Given the description of an element on the screen output the (x, y) to click on. 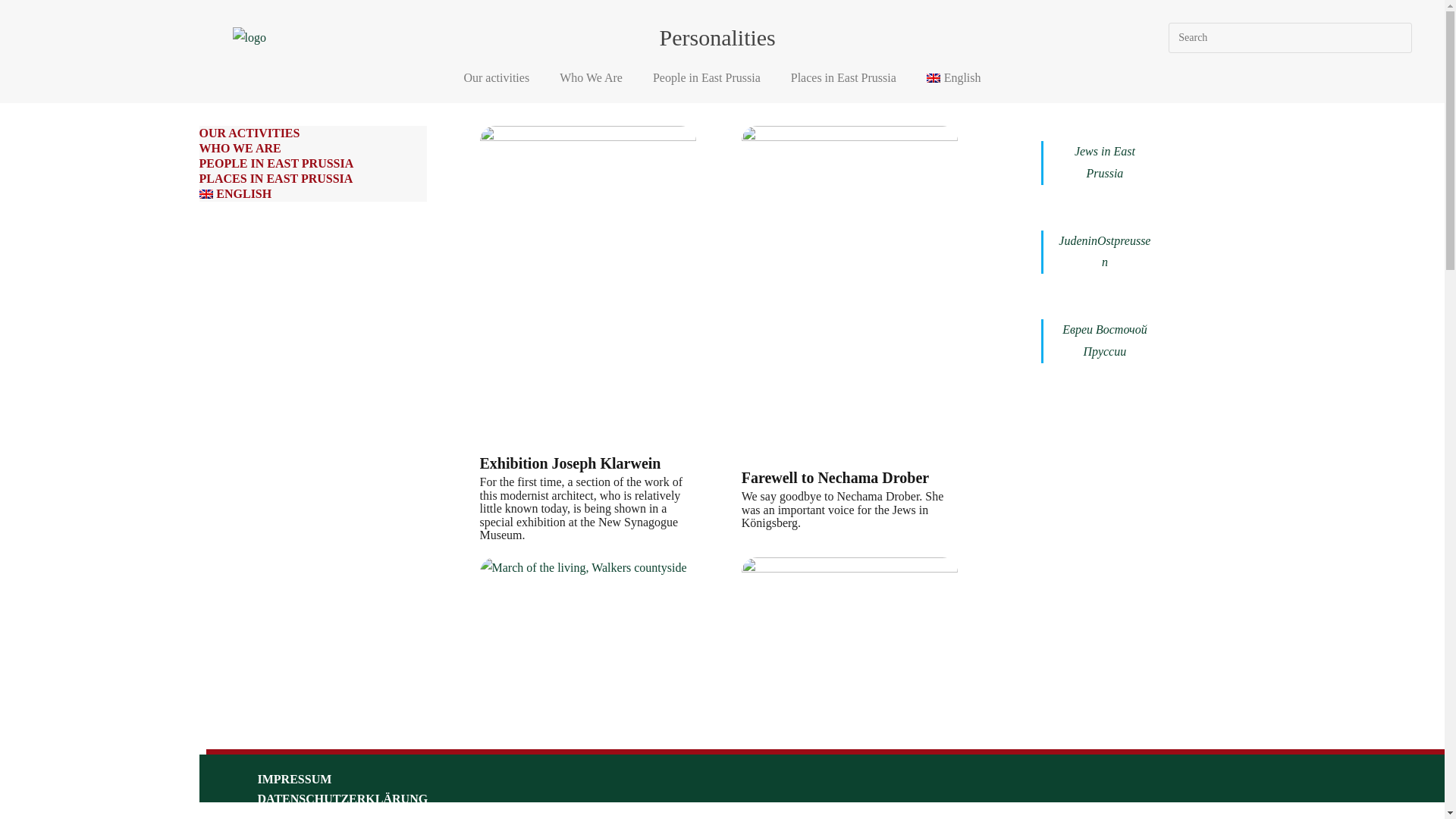
logo (249, 38)
English (312, 193)
People in East Prussia (706, 77)
English (953, 77)
Places in East Prussia (843, 77)
Our activities (496, 77)
English (953, 77)
Who We Are (590, 77)
